Given the description of an element on the screen output the (x, y) to click on. 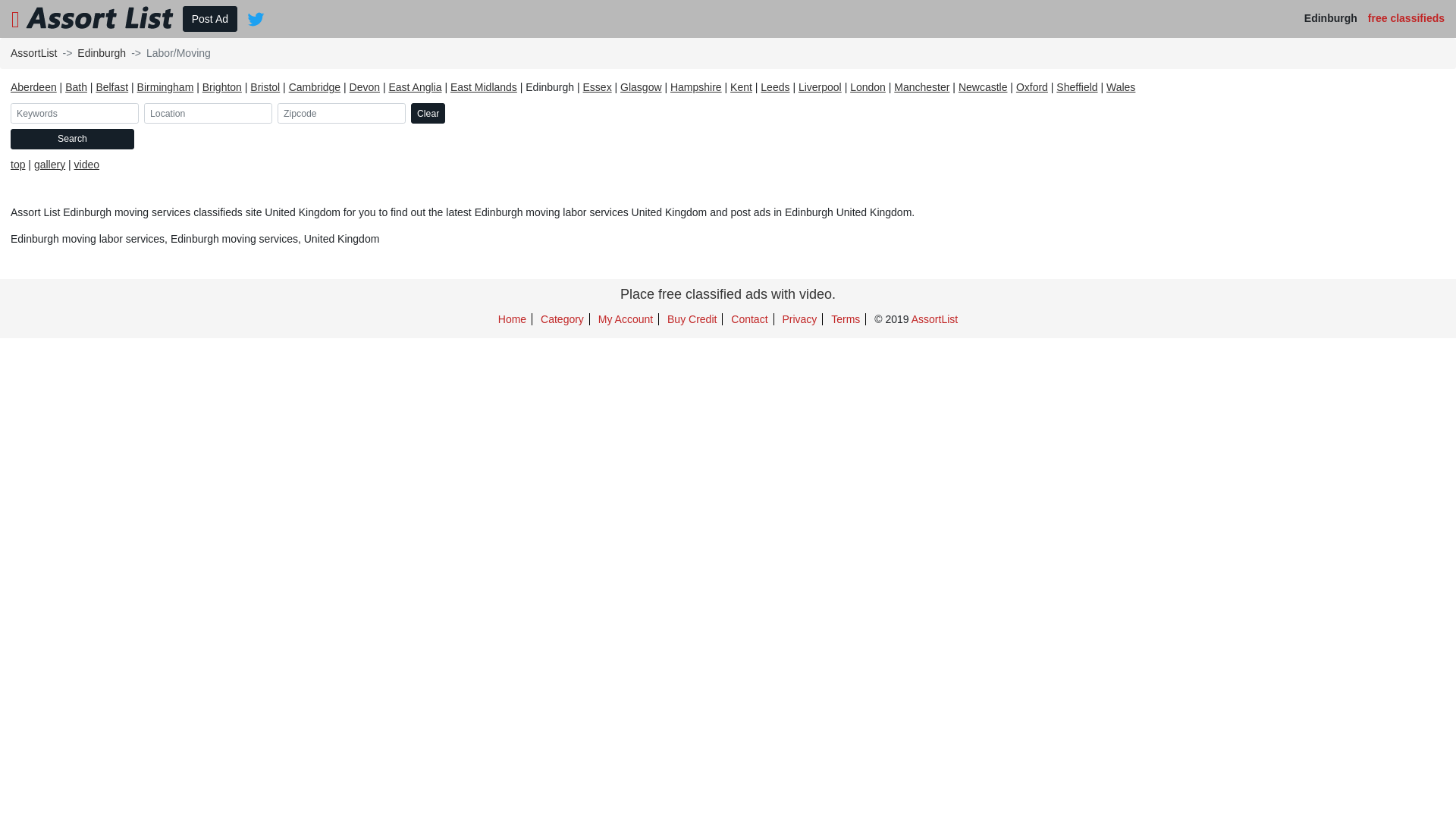
Wales Element type: text (1120, 87)
Buy Credit Element type: text (691, 319)
East Anglia Element type: text (414, 87)
Bath Element type: text (76, 87)
Place free classified ads with video. Element type: text (727, 293)
video Element type: text (86, 164)
Category Element type: text (561, 319)
Kent Element type: text (741, 87)
Essex Element type: text (597, 87)
Edinburgh Element type: text (101, 53)
Aberdeen Element type: text (33, 87)
Sheffield Element type: text (1076, 87)
My Account Element type: text (625, 319)
Bristol Element type: text (264, 87)
Newcastle Element type: text (982, 87)
Belfast Element type: text (111, 87)
Glasgow Element type: text (640, 87)
AssortList Element type: text (934, 319)
Hampshire Element type: text (695, 87)
Leeds Element type: text (774, 87)
AssortList Element type: text (33, 53)
East Midlands Element type: text (483, 87)
Liverpool Element type: text (819, 87)
gallery Element type: text (49, 164)
Birmingham Element type: text (165, 87)
Brighton Element type: text (221, 87)
Contact Element type: text (749, 319)
Clear Element type: text (428, 113)
Cambridge Element type: text (314, 87)
Post Ad Element type: text (209, 18)
Privacy Element type: text (798, 319)
London Element type: text (867, 87)
top Element type: text (17, 164)
Devon Element type: text (364, 87)
Home Element type: text (512, 319)
Search Element type: text (72, 138)
Manchester Element type: text (921, 87)
Oxford Element type: text (1032, 87)
Terms Element type: text (845, 319)
